Given the description of an element on the screen output the (x, y) to click on. 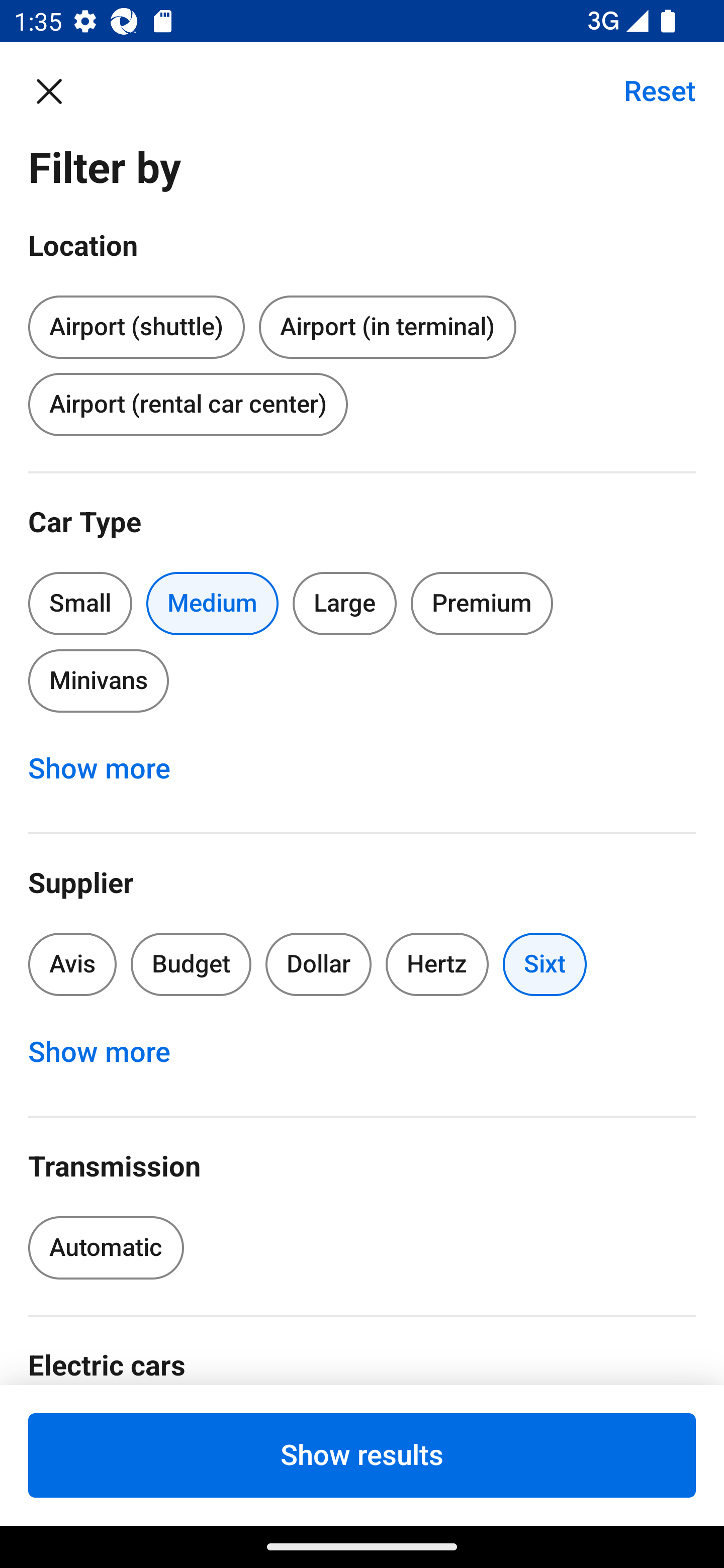
Close (59, 90)
Reset (649, 90)
Airport (shuttle) (136, 323)
Airport (in terminal) (387, 327)
Airport (rental car center) (187, 404)
Small (80, 603)
Large (344, 603)
Premium (482, 603)
Minivans (98, 680)
Show more (109, 767)
Avis (72, 963)
Budget (191, 963)
Dollar (318, 963)
Hertz (437, 963)
Show more (109, 1051)
Automatic (105, 1247)
Show results (361, 1454)
